Given the description of an element on the screen output the (x, y) to click on. 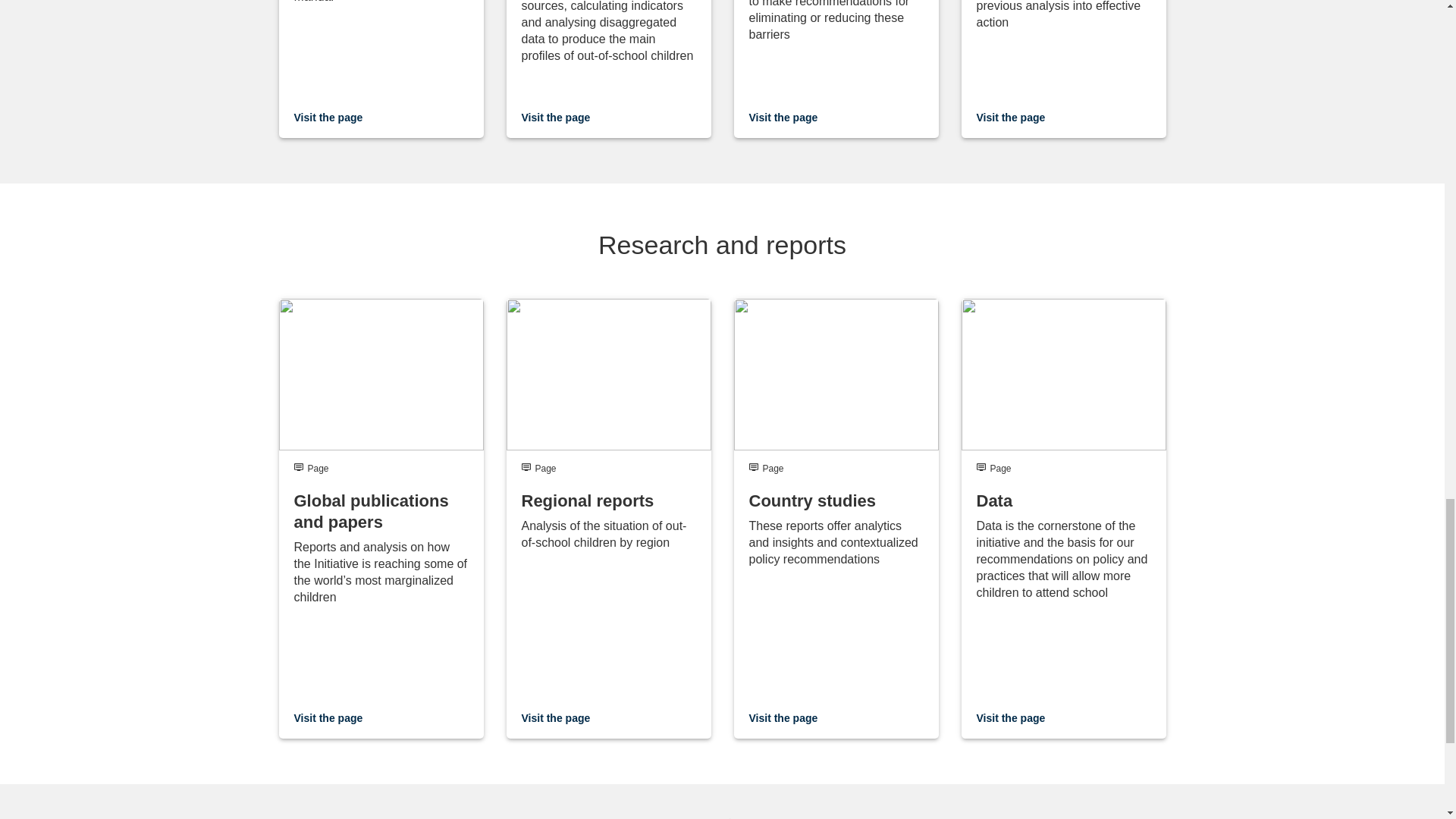
OOSCI Operational Manual: Introduction (381, 69)
OOSCI Operational Manual: Data sources, profiles of children (608, 69)
OOSCI Operational Manual: Barriers to education (836, 69)
